Given the description of an element on the screen output the (x, y) to click on. 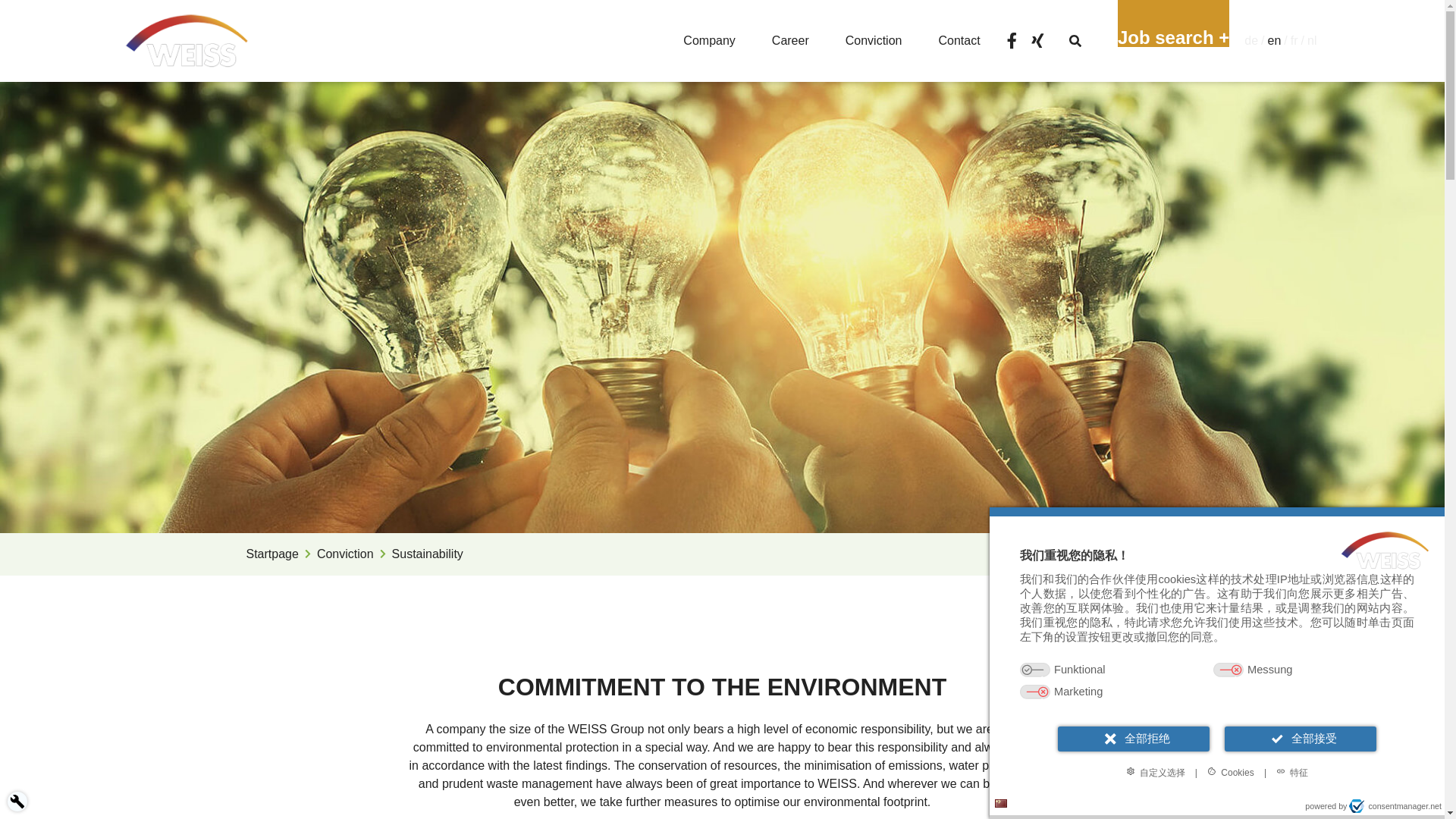
Contact (958, 40)
consentmanager.net (1395, 806)
Company (708, 40)
Career (790, 40)
Conviction (873, 40)
Language: zh (1000, 803)
Cookies (1229, 771)
Job search (1173, 23)
Language: zh (1000, 803)
